Given the description of an element on the screen output the (x, y) to click on. 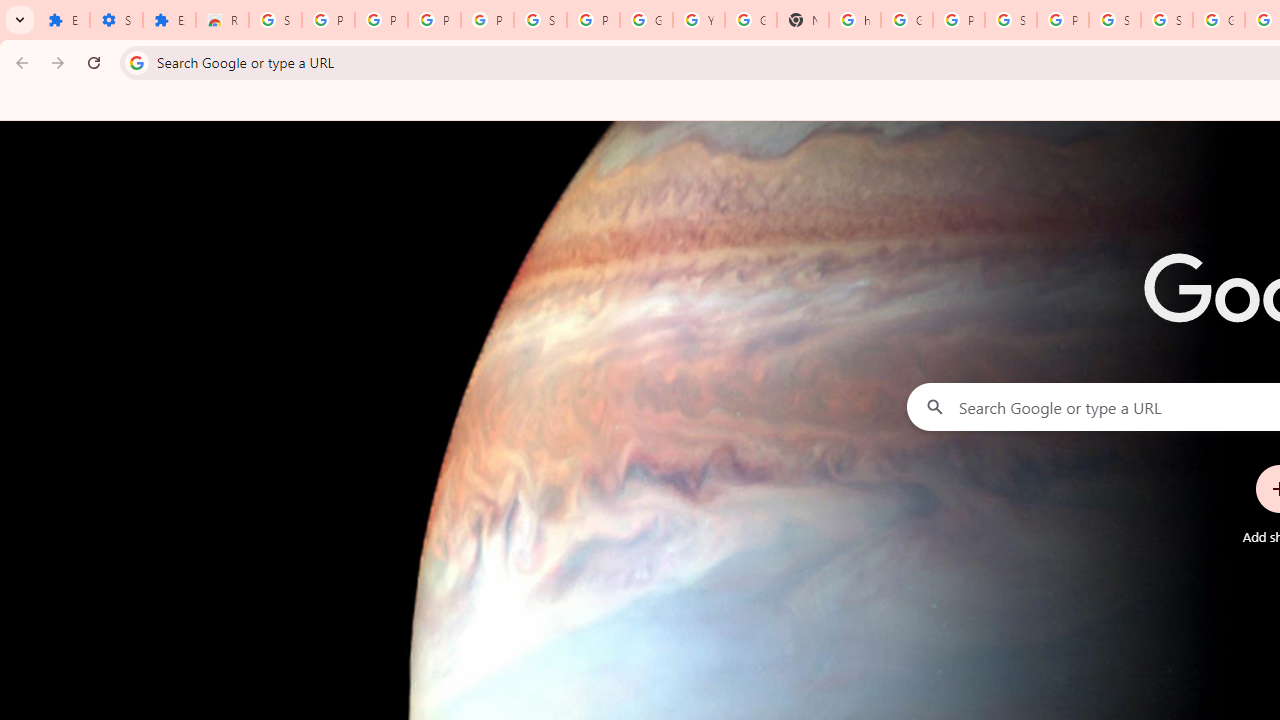
https://scholar.google.com/ (854, 20)
Google Account (646, 20)
Sign in - Google Accounts (1114, 20)
New Tab (803, 20)
Extensions (63, 20)
Sign in - Google Accounts (540, 20)
